Given the description of an element on the screen output the (x, y) to click on. 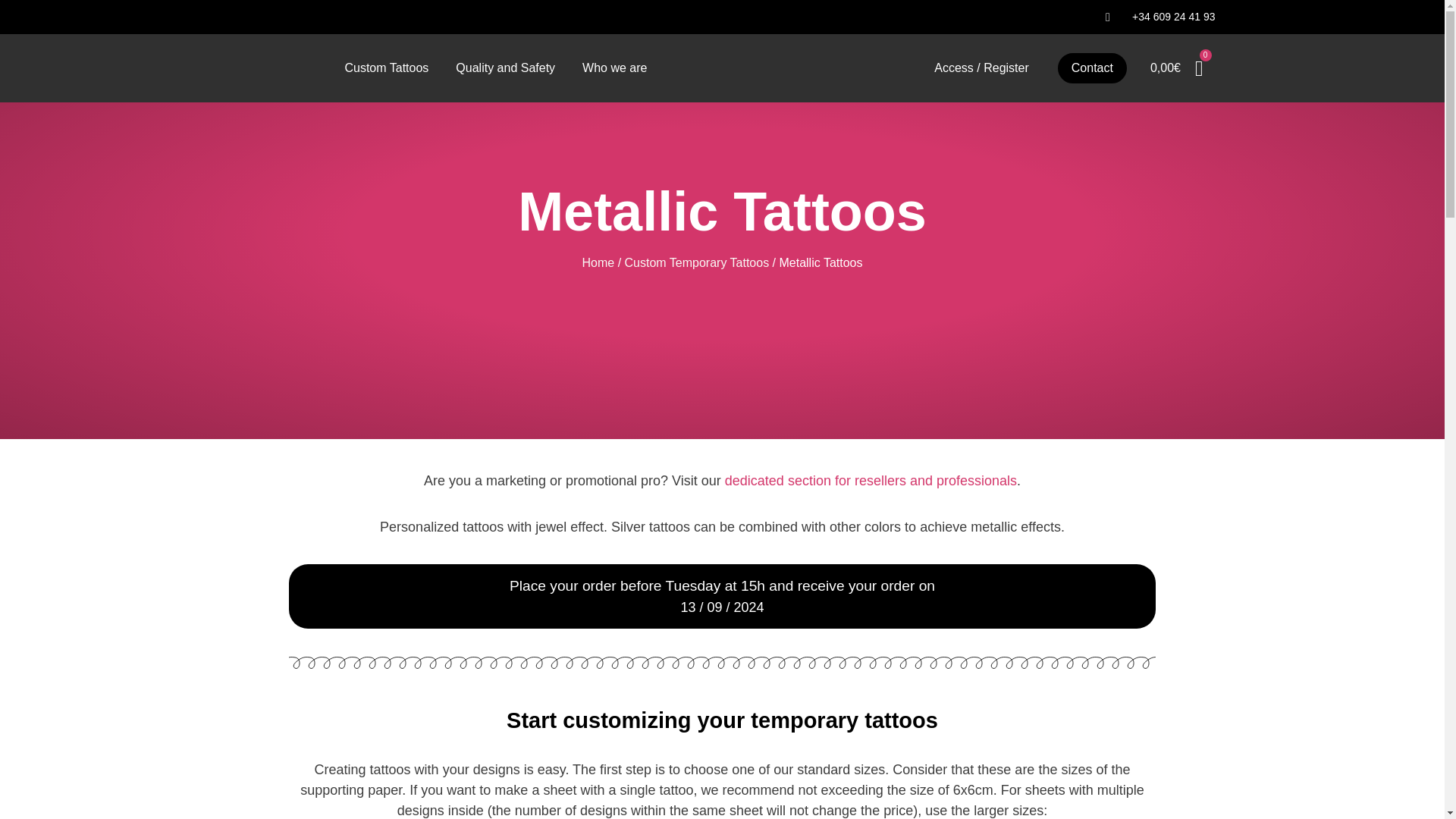
Contact (1092, 68)
Who we are (615, 67)
Custom Tattoos (386, 67)
Quality and Safety (505, 67)
